Given the description of an element on the screen output the (x, y) to click on. 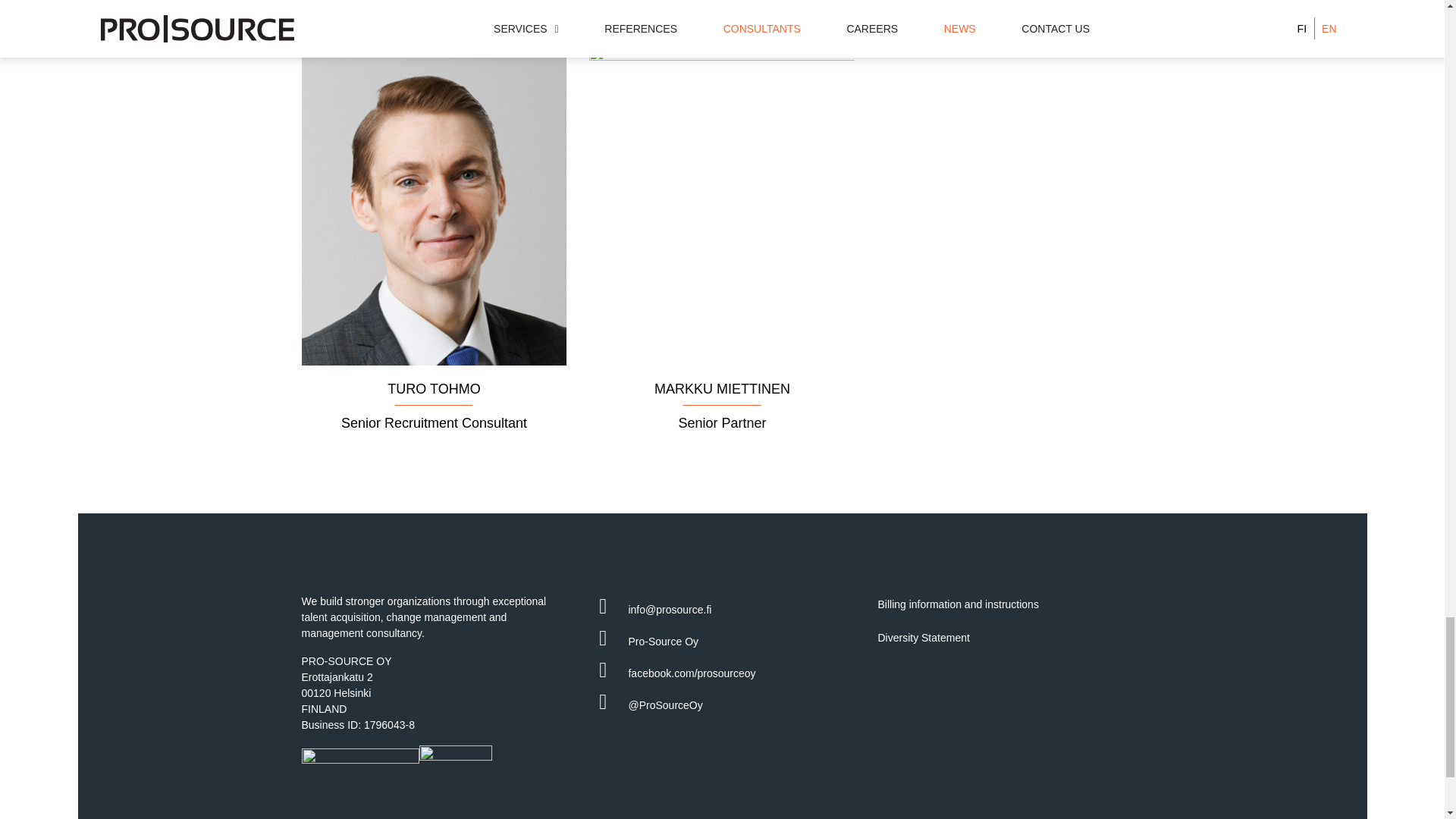
Billing information and instructions (1009, 604)
Diversity Statement (1009, 637)
Pro-Source Oy (721, 641)
